Given the description of an element on the screen output the (x, y) to click on. 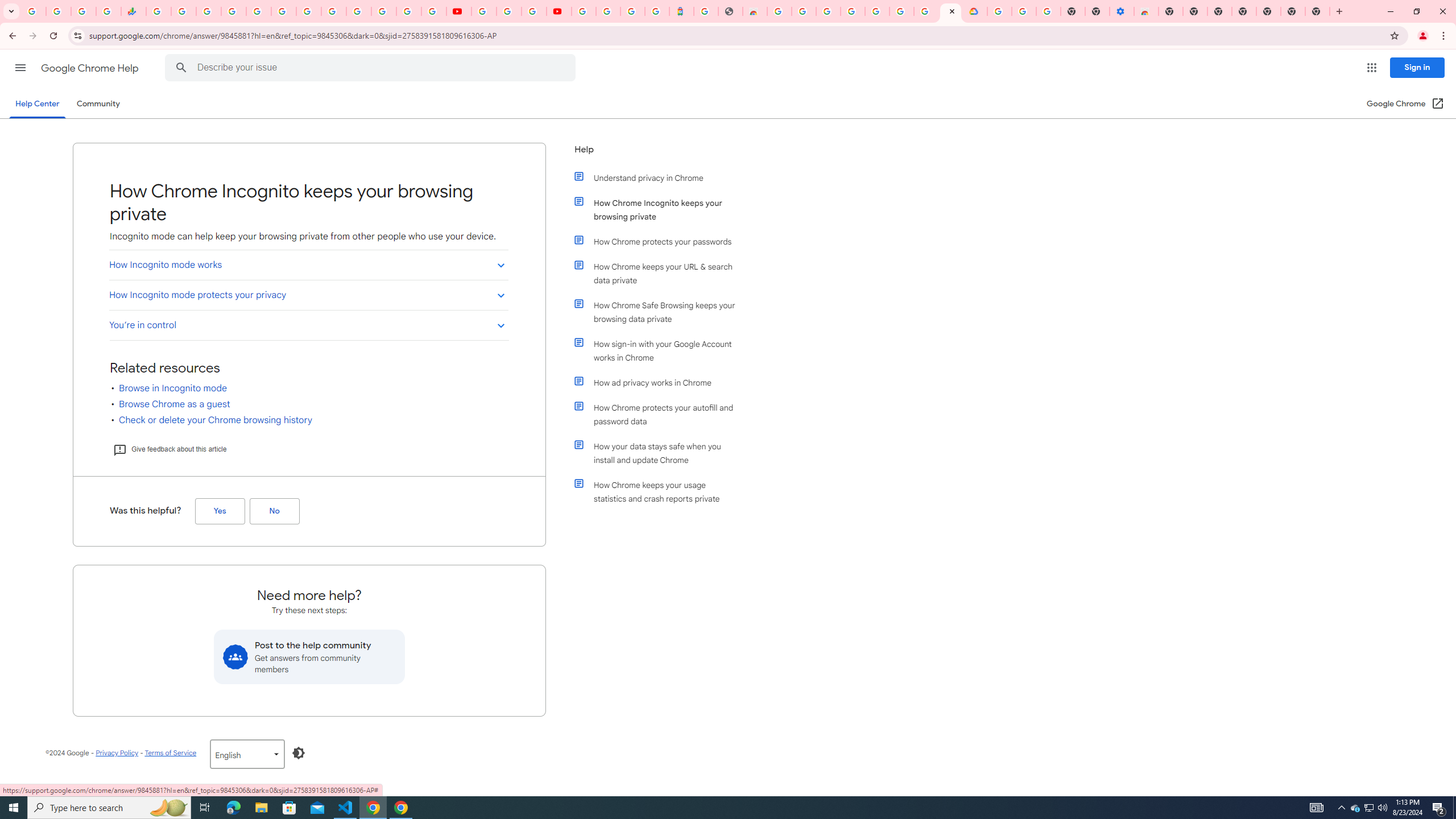
New Tab (1170, 11)
New Tab (1317, 11)
Terms of Service (170, 752)
Browse Chrome as a guest (174, 404)
Help Center (36, 103)
Sign in - Google Accounts (233, 11)
How Chrome Incognito keeps your browsing private (661, 209)
Chrome Web Store - Household (754, 11)
Chrome Web Store - Accessibility extensions (1145, 11)
